Given the description of an element on the screen output the (x, y) to click on. 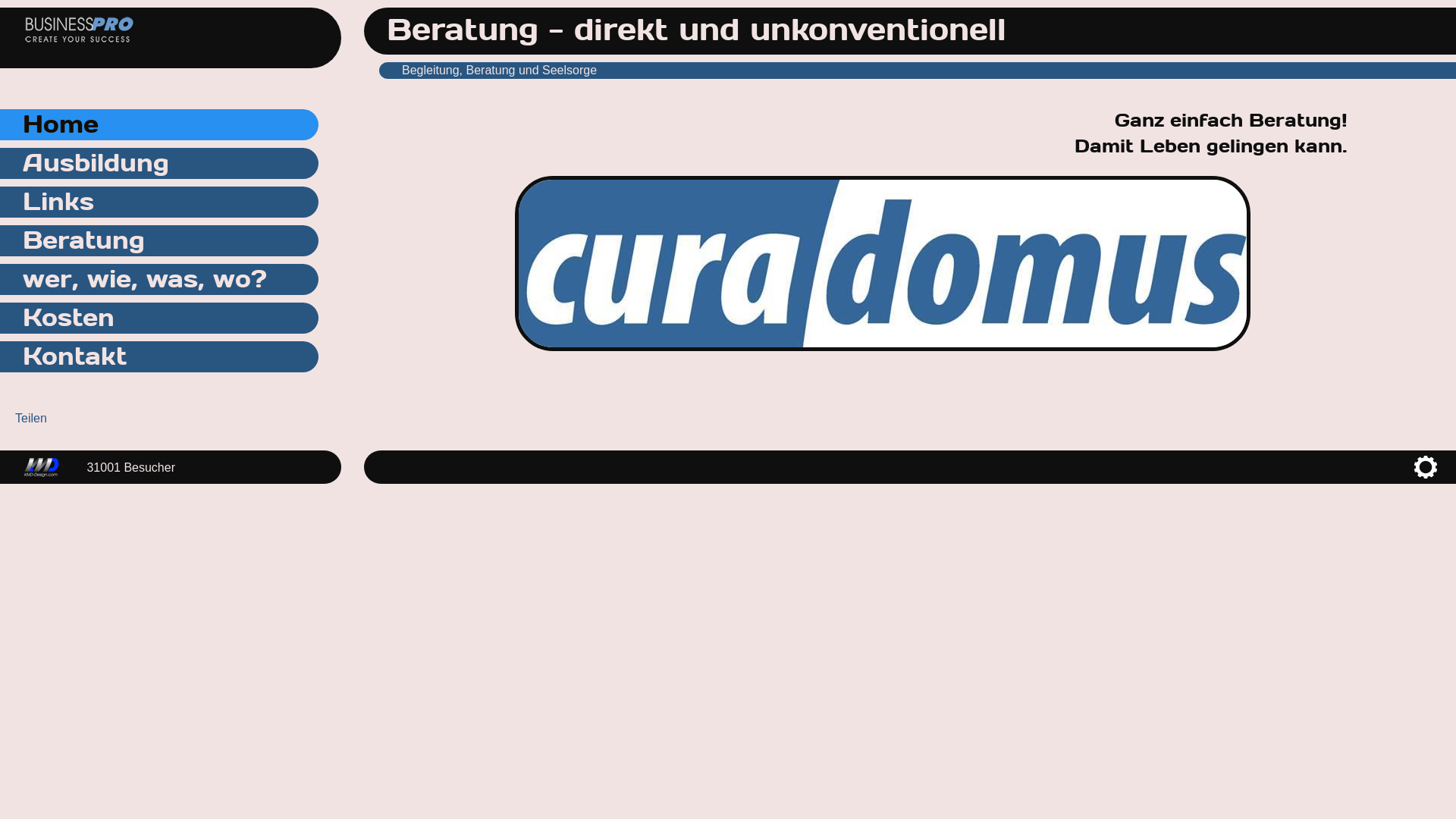
Links Element type: text (159, 201)
wer, wie, was, wo? Element type: text (159, 278)
Home Element type: text (159, 124)
Teilen Element type: text (31, 417)
Kosten Element type: text (159, 317)
Ausbildung Element type: text (159, 162)
Beratung Element type: text (159, 240)
Kontakt Element type: text (159, 356)
